Given the description of an element on the screen output the (x, y) to click on. 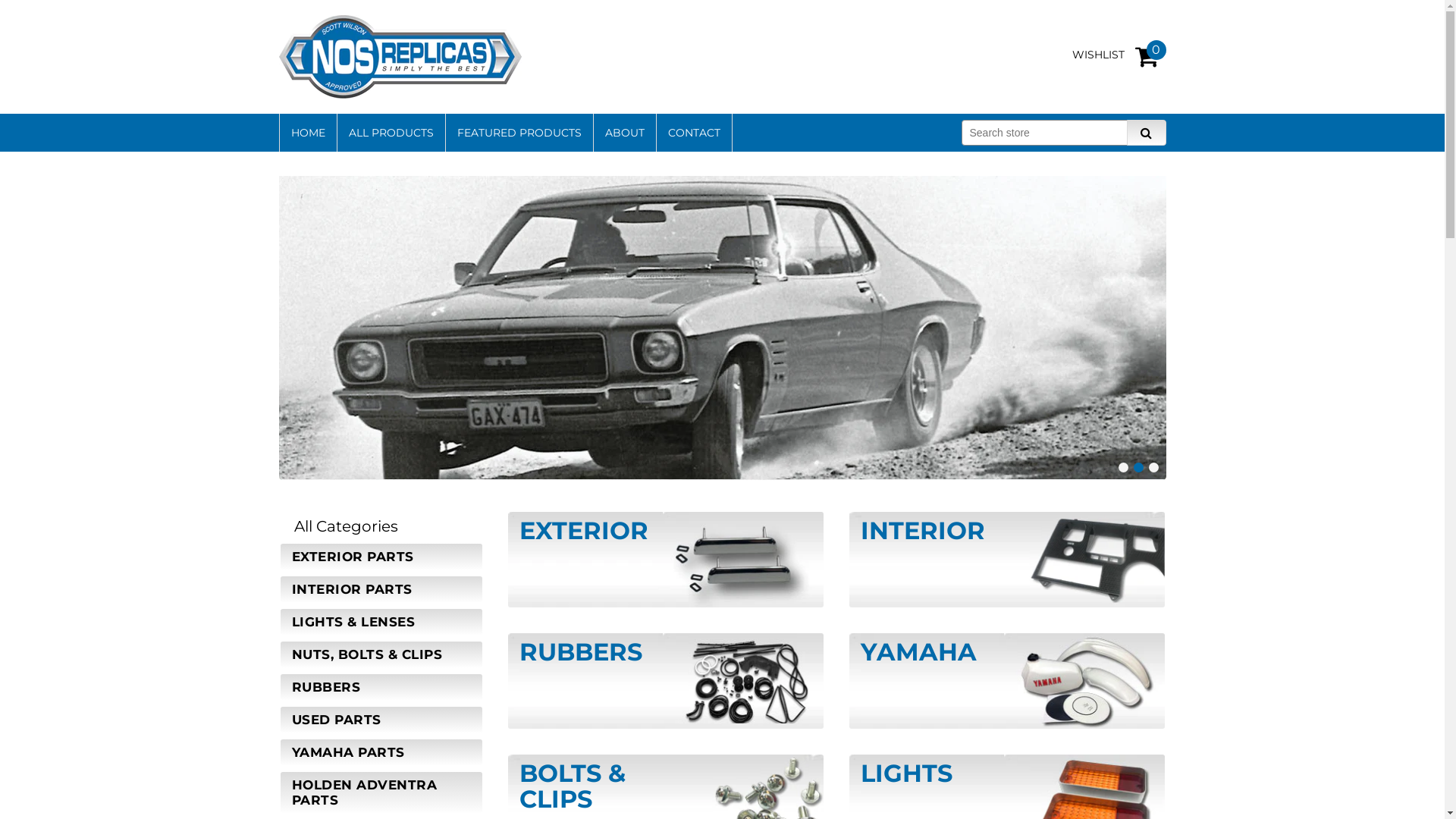
0 Element type: text (1149, 50)
ABOUT Element type: text (624, 132)
YAMAHA Element type: text (1005, 686)
EXTERIOR Element type: text (664, 565)
LIGHTS & LENSES Element type: text (381, 621)
WISHLIST Element type: text (1102, 54)
INTERIOR Element type: text (1005, 565)
INTERIOR PARTS Element type: text (381, 588)
RUBBERS Element type: text (381, 686)
USED PARTS Element type: text (381, 719)
RUBBERS Element type: text (664, 686)
CONTACT Element type: text (693, 132)
NUTS, BOLTS & CLIPS Element type: text (381, 654)
EXTERIOR PARTS Element type: text (381, 556)
HOME Element type: text (307, 132)
HOLDEN ADVENTRA PARTS Element type: text (381, 792)
ALL PRODUCTS Element type: text (390, 132)
YAMAHA PARTS Element type: text (381, 751)
FEATURED PRODUCTS Element type: text (519, 132)
